Given the description of an element on the screen output the (x, y) to click on. 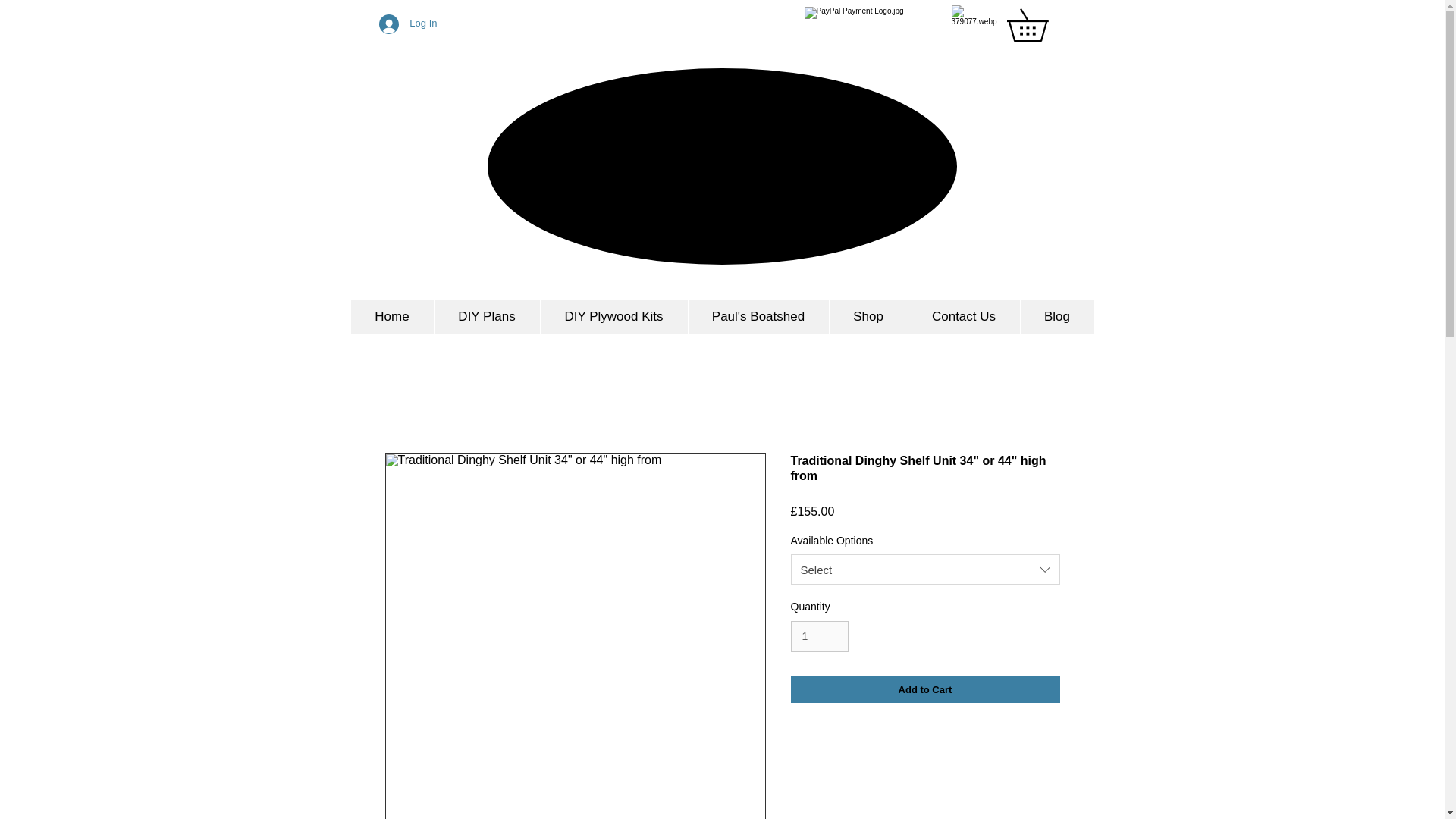
Blog (1056, 316)
Home (391, 316)
Shop (867, 316)
Paul's Boatshed (757, 316)
DIY Plans (486, 316)
Select (924, 569)
DIY Plywood Kits (613, 316)
Contact Us (963, 316)
Log In (407, 23)
Add to Cart (924, 689)
1 (818, 635)
